Given the description of an element on the screen output the (x, y) to click on. 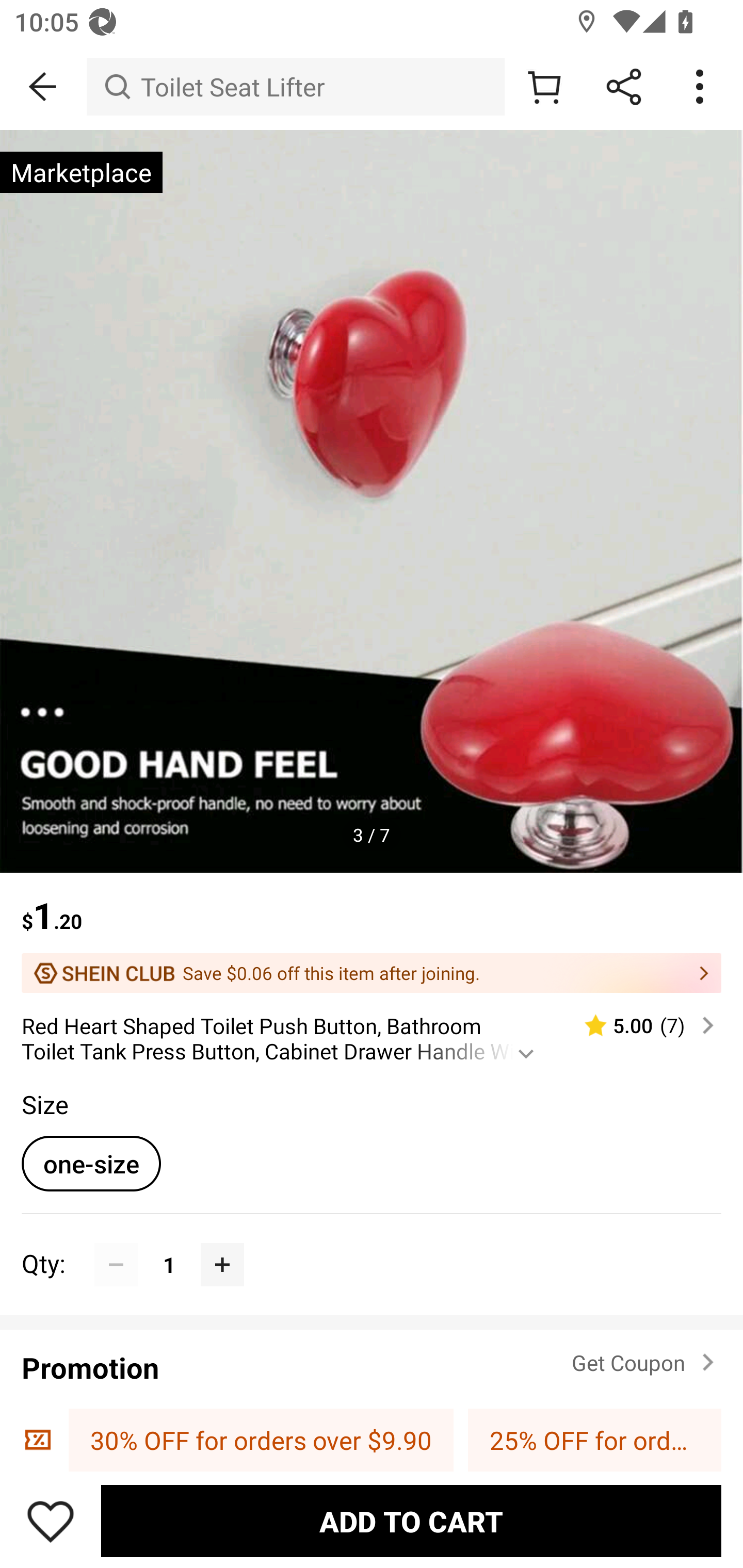
BACK (43, 86)
Toilet Seat Lifter (295, 87)
PHOTOS Marketplace 3 / 7 (371, 501)
3 / 7 (371, 834)
$1.20 Save $0.06 off this item after joining. (371, 932)
Save $0.06 off this item after joining. (371, 972)
5.00 (7) (640, 1025)
Size (44, 1103)
one-size one-sizeselected option (91, 1163)
Qty: 1 (371, 1241)
ADD TO CART (411, 1520)
Save (50, 1520)
